Given the description of an element on the screen output the (x, y) to click on. 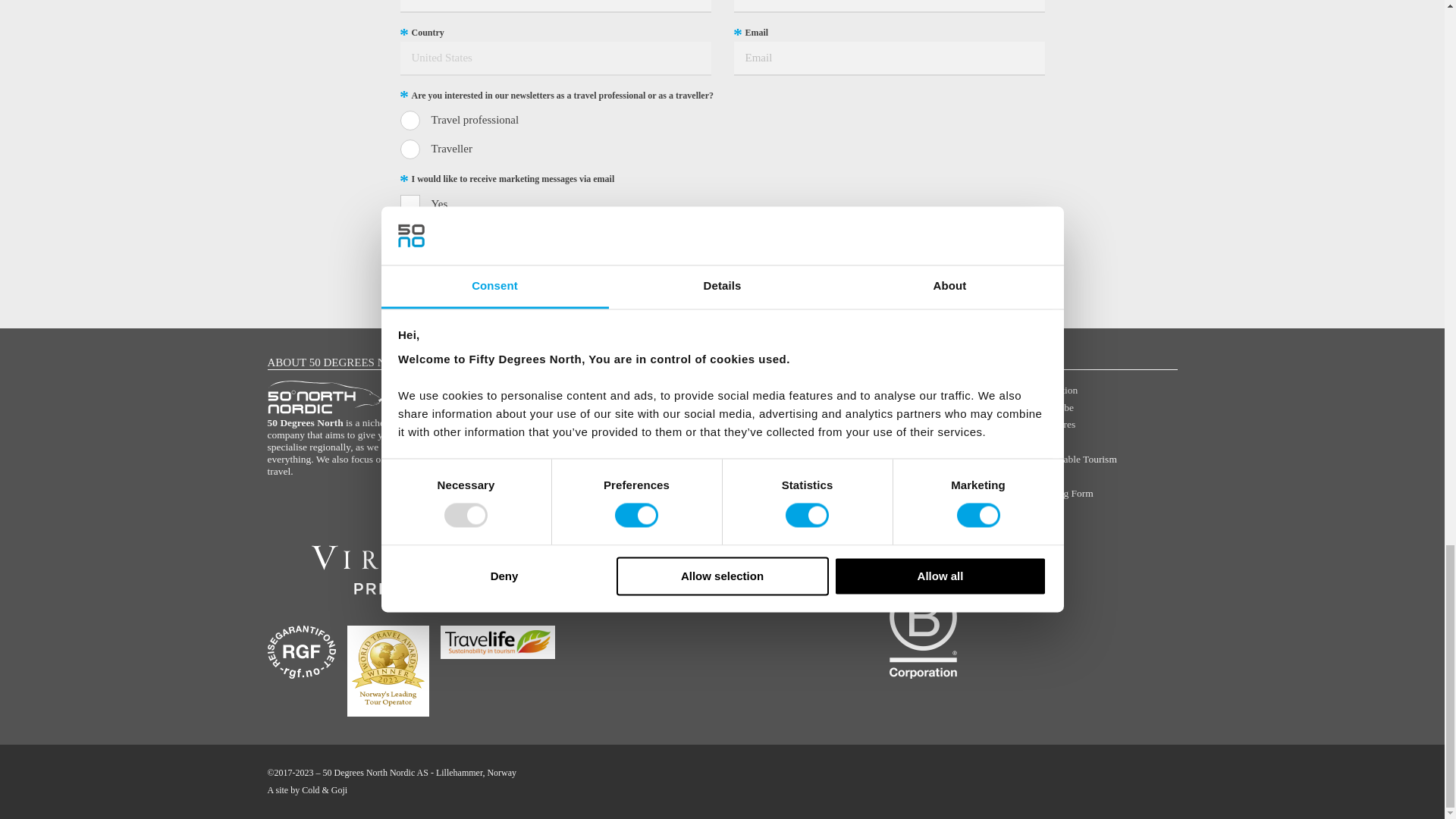
00NVg000000RE0T (410, 120)
1 (410, 204)
00NVg000000RE25 (410, 148)
